Given the description of an element on the screen output the (x, y) to click on. 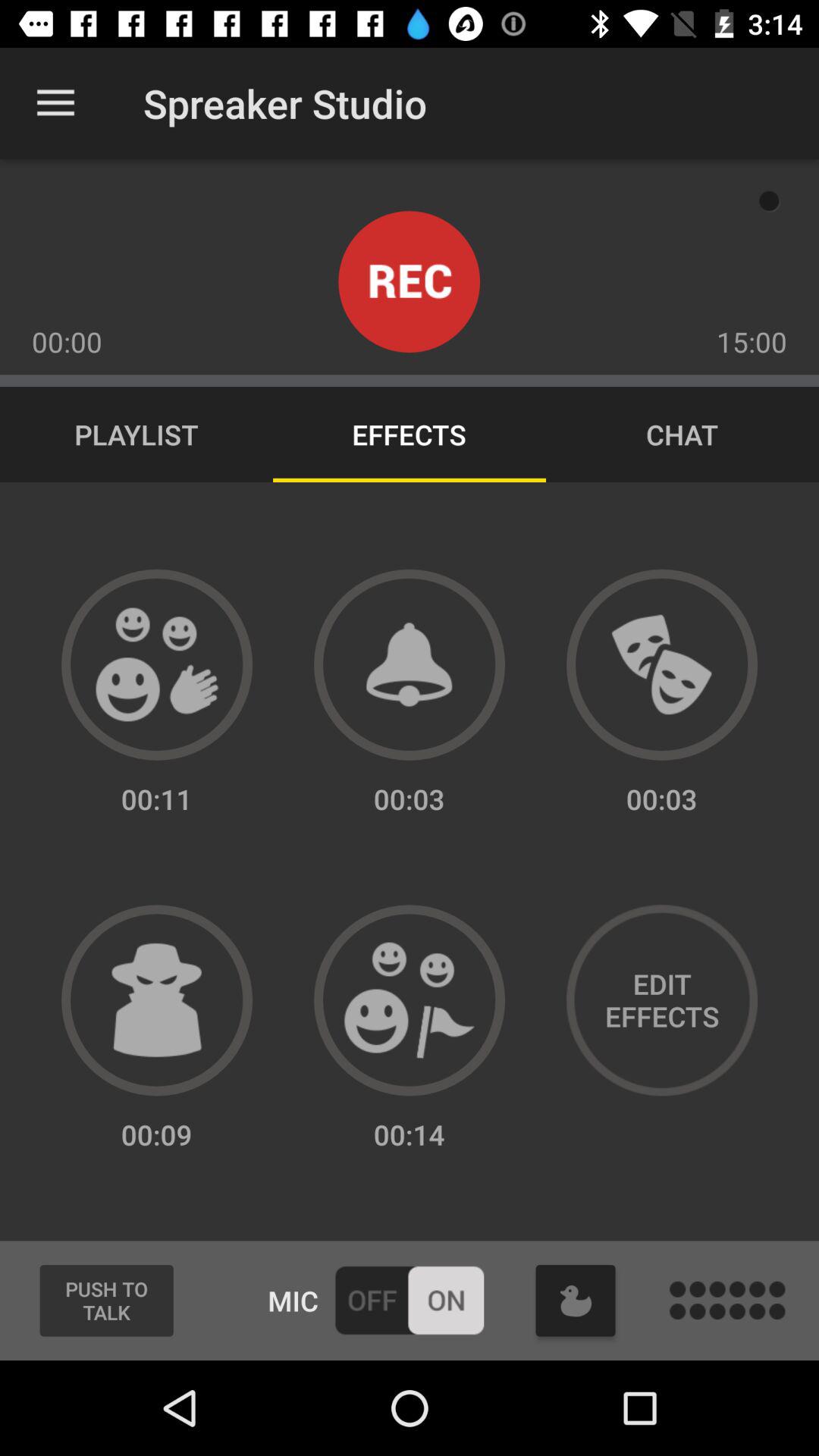
alart option (409, 664)
